Given the description of an element on the screen output the (x, y) to click on. 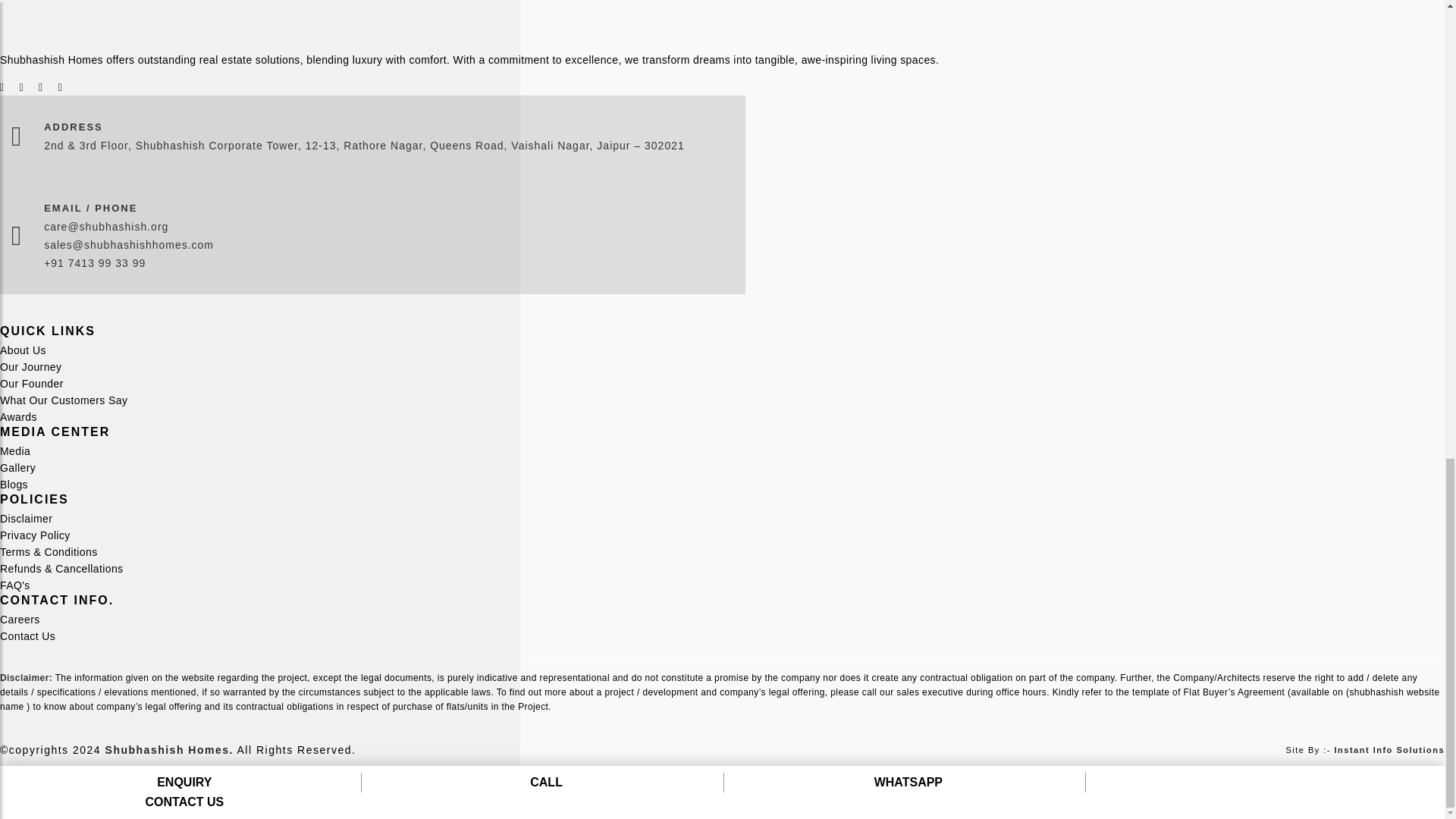
Our Founder (32, 383)
Our Journey (30, 367)
About Us (23, 349)
